Given the description of an element on the screen output the (x, y) to click on. 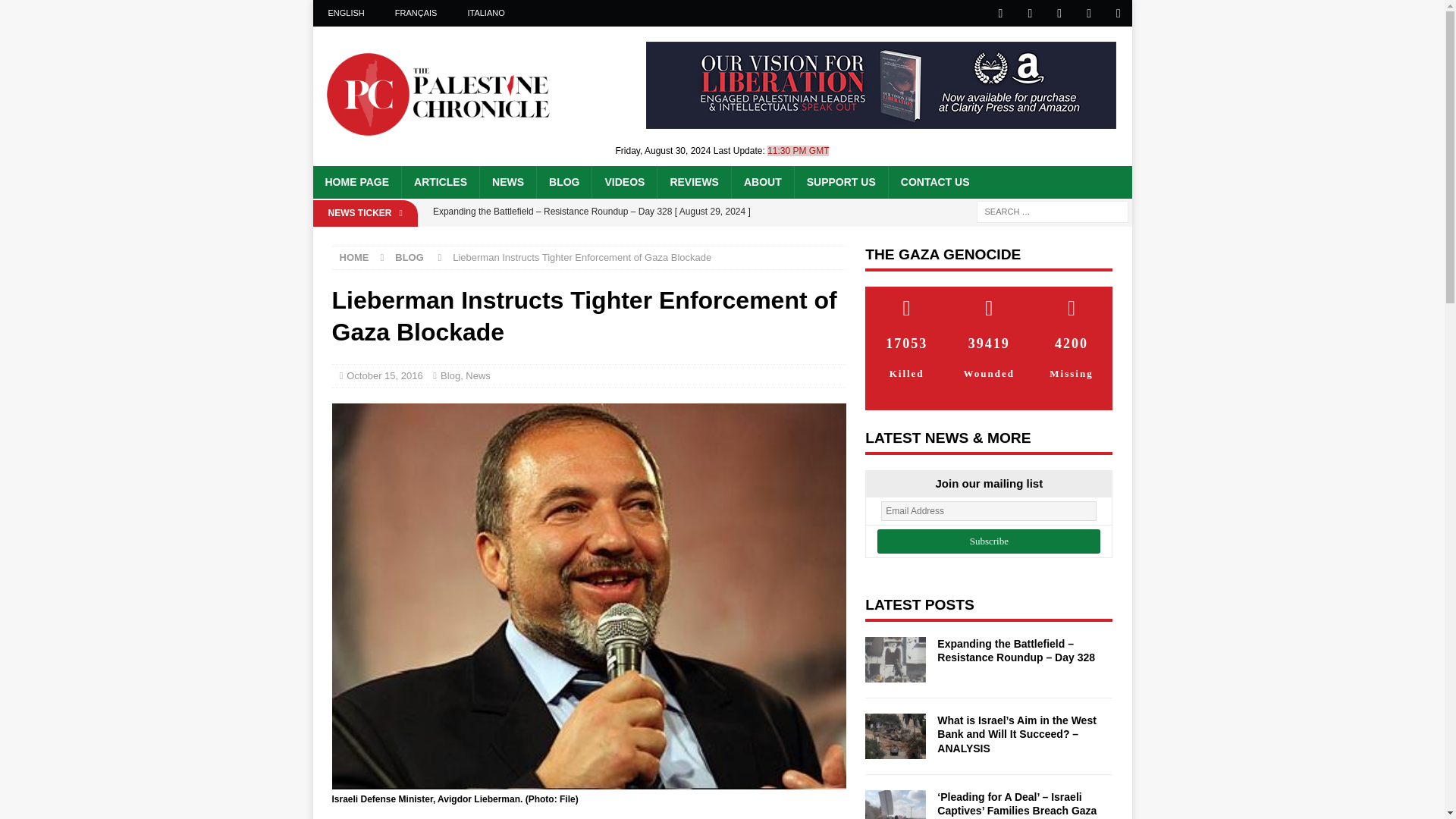
CONTACT US (934, 182)
NEWS (507, 182)
ITALIANO (485, 13)
Subscribe (988, 541)
ENGLISH (345, 13)
BLOG (563, 182)
Search (56, 11)
VIDEOS (623, 182)
REVIEWS (693, 182)
